Given the description of an element on the screen output the (x, y) to click on. 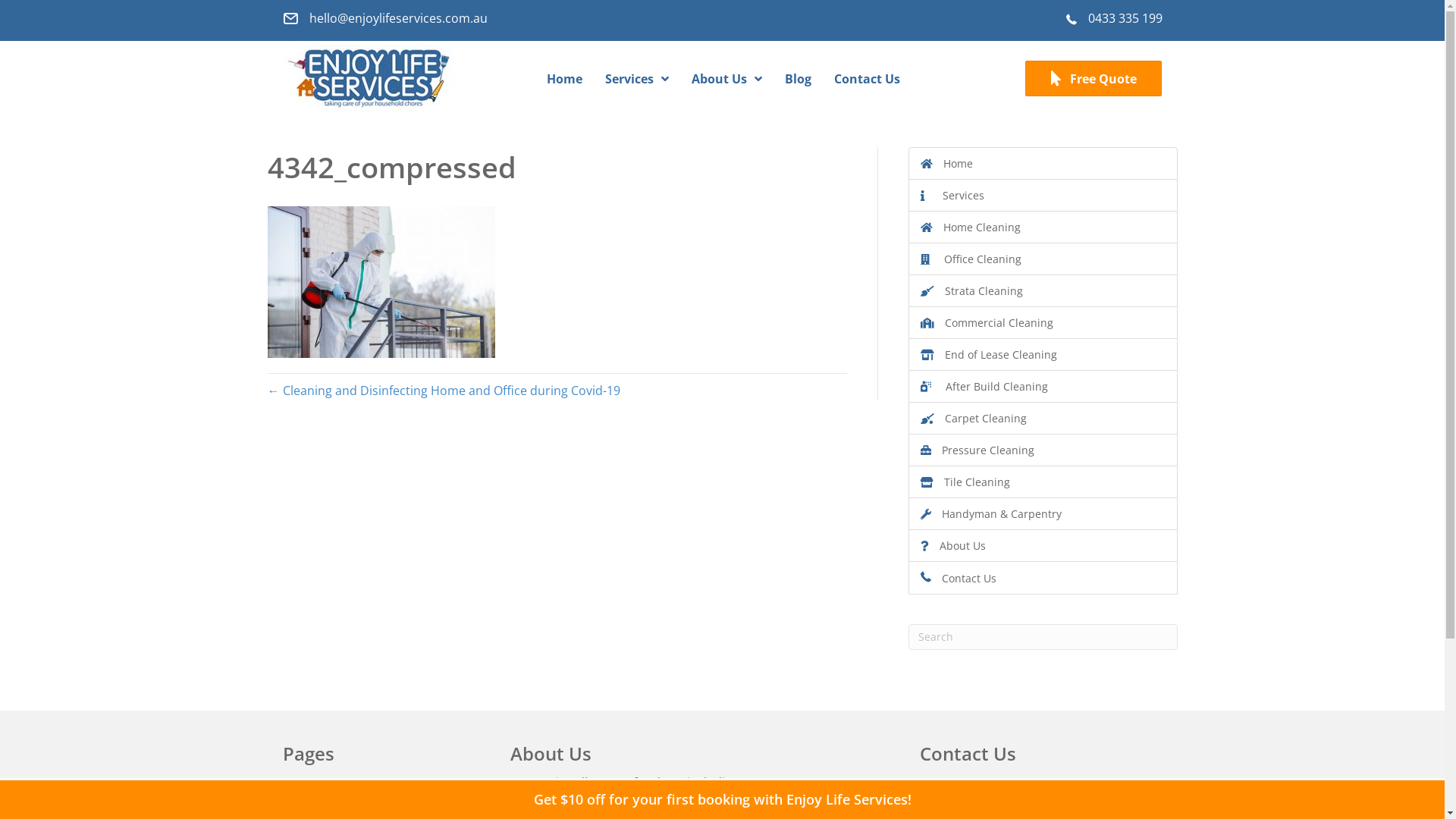
After Build Cleaning Element type: text (1042, 386)
Commercial Cleaning Element type: text (1042, 322)
> Home Element type: text (304, 785)
Strata Cleaning Element type: text (1042, 290)
Services Element type: text (636, 78)
End of Lease Cleaning Element type: text (1042, 354)
About Us Element type: text (1042, 545)
Home Element type: text (564, 78)
Pressure Cleaning Element type: text (1042, 449)
Carpet Cleaning Element type: text (1042, 417)
About Us Element type: text (726, 78)
Services Element type: text (1042, 194)
Home Cleaning Element type: text (1042, 226)
Blog Element type: text (798, 78)
Type and press Enter to search. Element type: hover (1042, 636)
Contact Us Element type: text (866, 78)
Contact Us Element type: text (1042, 577)
0433 335 199 Element type: text (986, 787)
0433 335 199 Element type: text (1124, 17)
Home Element type: text (1042, 163)
Handyman & Carpentry Element type: text (1042, 513)
> Services Element type: text (310, 809)
Tile Cleaning Element type: text (1042, 481)
Office Cleaning Element type: text (1042, 258)
Free Quote Element type: text (1093, 78)
ELS Logo Element type: hover (368, 78)
hello@enjoylifeservices.com.au Element type: text (398, 17)
